Given the description of an element on the screen output the (x, y) to click on. 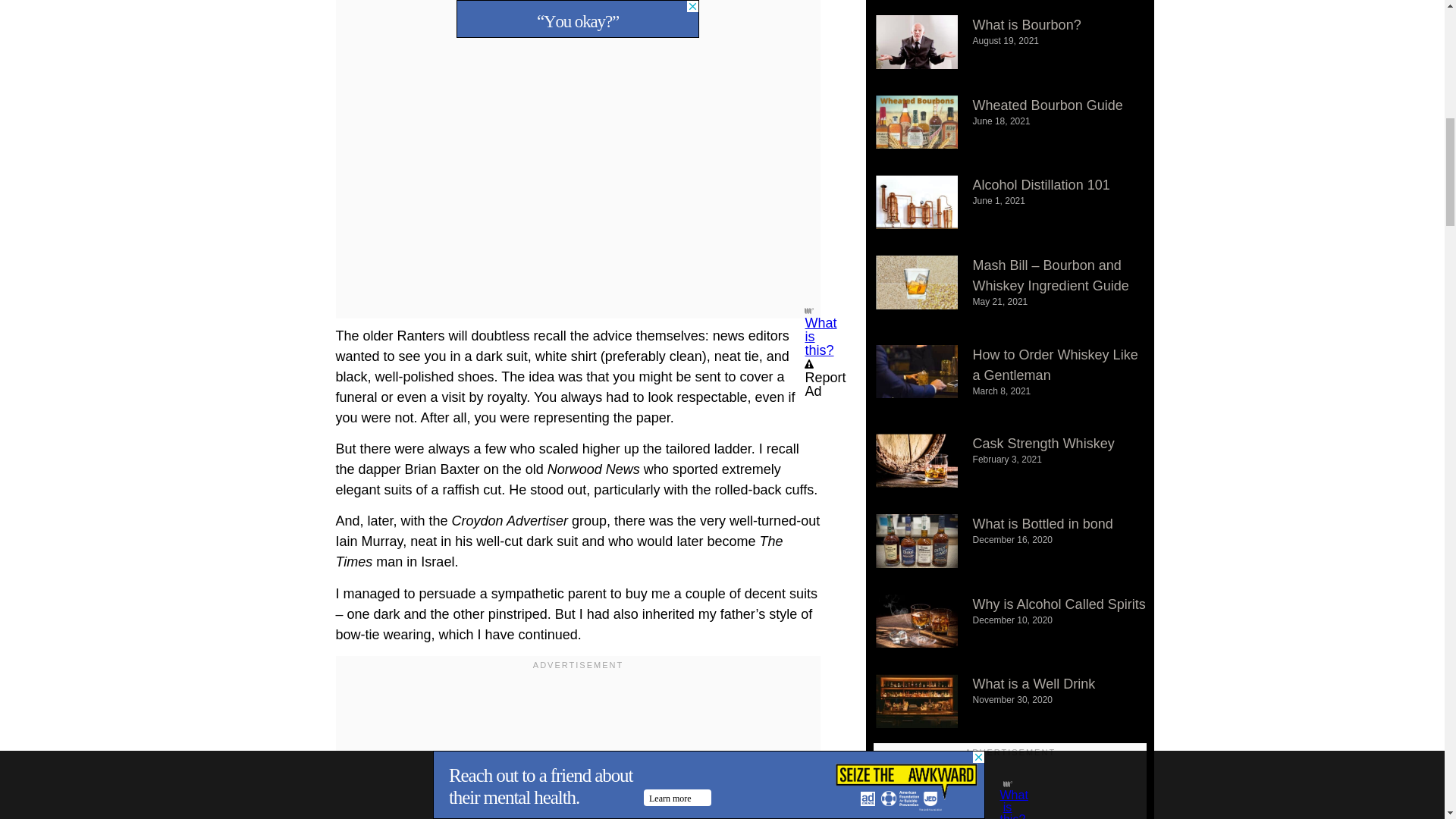
3rd party ad content (577, 11)
How to Order Whiskey Like a Gentleman (1055, 365)
What is Bourbon? (1026, 24)
Alcohol Distillation 101 (1040, 184)
Why is Alcohol Called Spirits (1058, 604)
Cask Strength Whiskey (1043, 443)
What is Bottled in bond (1042, 523)
Wheated Bourbon Guide (1047, 105)
